Given the description of an element on the screen output the (x, y) to click on. 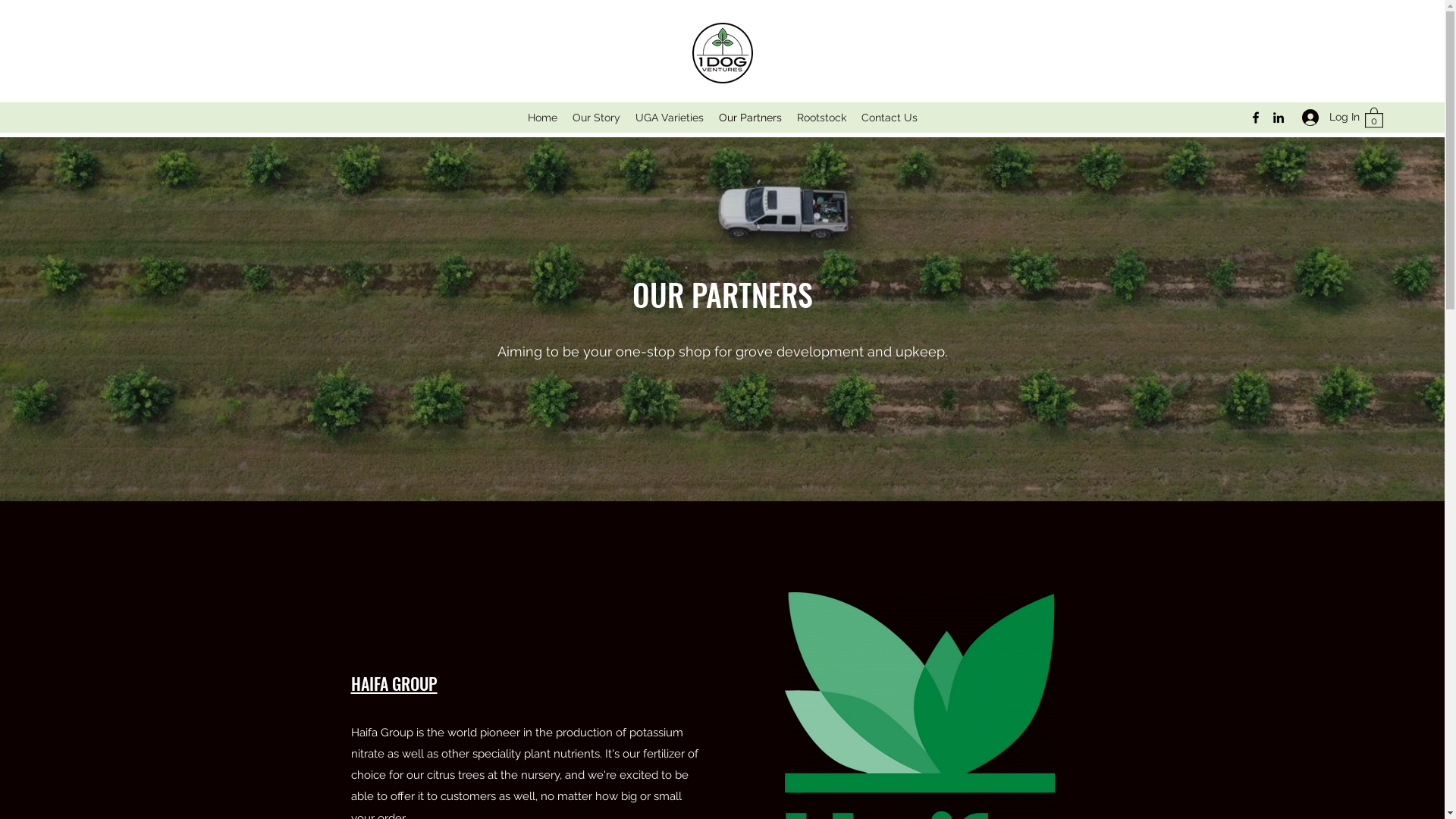
Home Element type: text (542, 117)
Rootstock Element type: text (820, 117)
HAIFA GROUP Element type: text (393, 683)
Log In Element type: text (1325, 117)
Our Story Element type: text (595, 117)
Our Partners Element type: text (750, 117)
UGA Varieties Element type: text (669, 117)
Contact Us Element type: text (889, 117)
0 Element type: text (1374, 117)
